Given the description of an element on the screen output the (x, y) to click on. 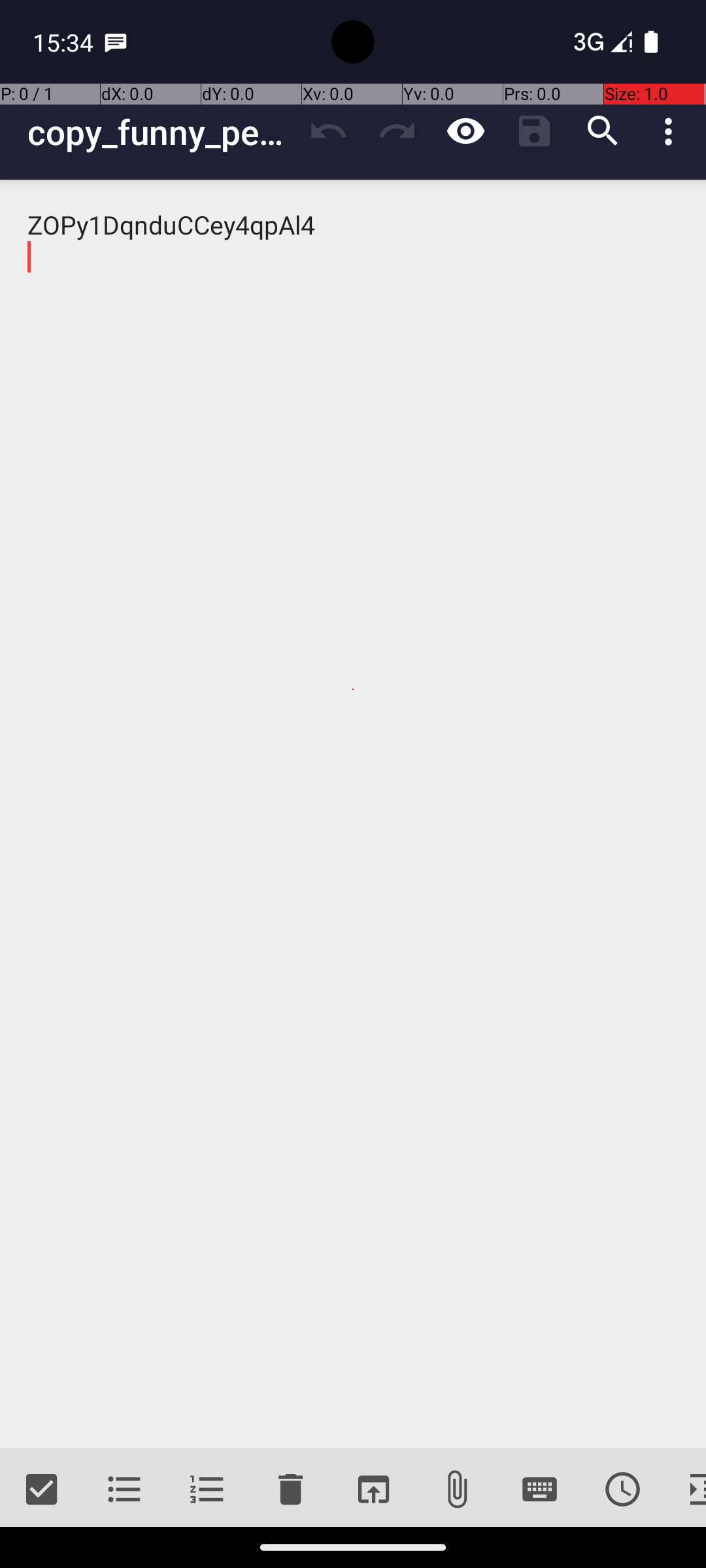
copy_funny_penguin_final Element type: android.widget.TextView (160, 131)
Undo Element type: android.widget.TextView (328, 131)
Redo Element type: android.widget.TextView (396, 131)
View mode Element type: android.widget.TextView (465, 131)
Save Element type: android.widget.TextView (534, 131)
ZOPy1DqnduCCey4qpAl4
 Element type: android.widget.EditText (353, 813)
Check list Element type: android.widget.ImageView (41, 1488)
Unordered list Element type: android.widget.ImageView (124, 1488)
Ordered list Element type: android.widget.ImageView (207, 1488)
Delete lines Element type: android.widget.ImageView (290, 1488)
Open link Element type: android.widget.ImageView (373, 1488)
Attach Element type: android.widget.ImageView (456, 1488)
Special Key Element type: android.widget.ImageView (539, 1488)
Date and time Element type: android.widget.ImageView (622, 1488)
Indent Element type: android.widget.ImageView (685, 1488)
